Given the description of an element on the screen output the (x, y) to click on. 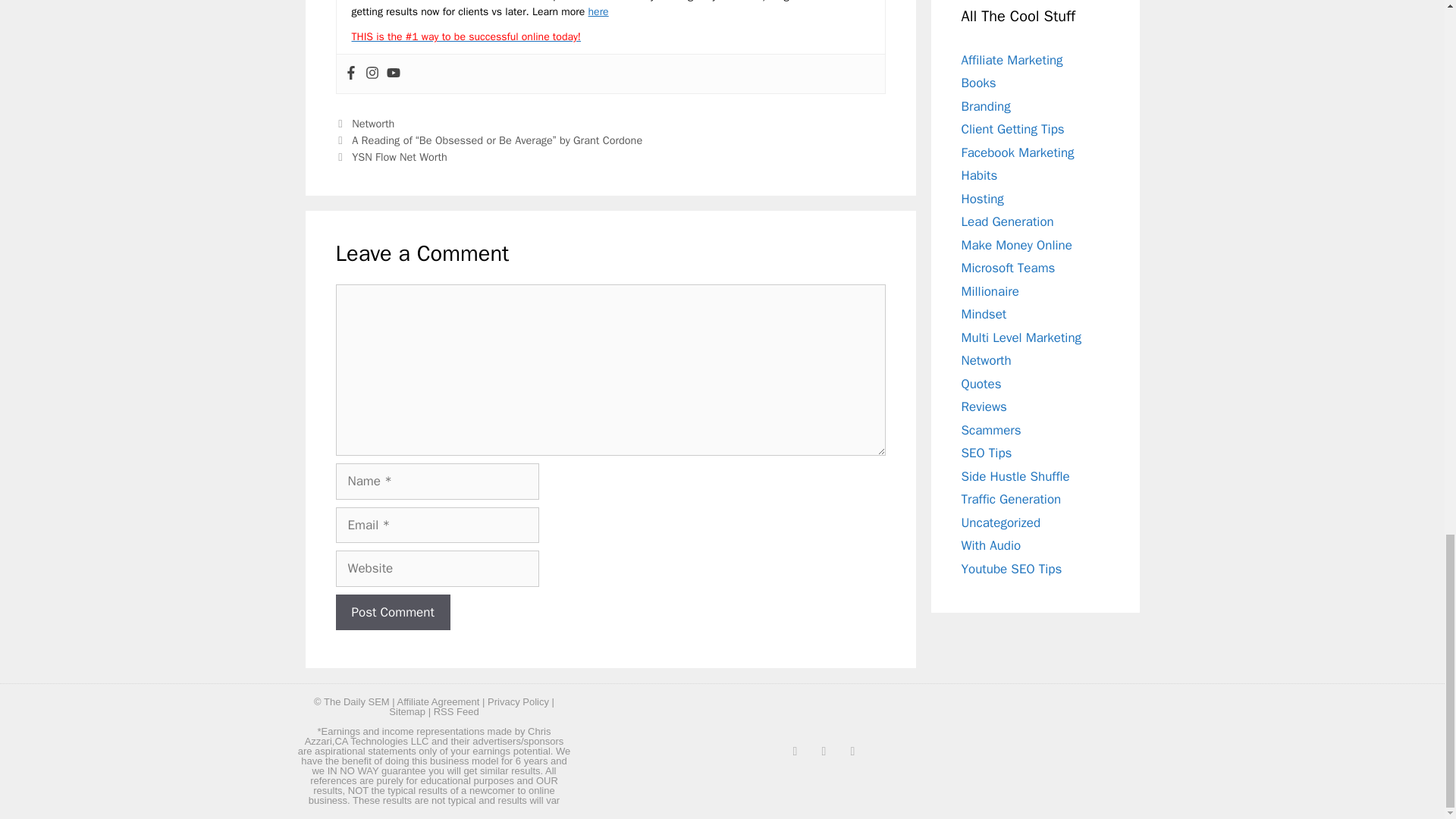
here (598, 11)
Books (977, 82)
Affiliate Marketing (1011, 59)
Post Comment (391, 612)
Networth (373, 123)
sitemap (406, 711)
YSN Flow Net Worth (399, 156)
rss feed (456, 711)
Post Comment (391, 612)
